Given the description of an element on the screen output the (x, y) to click on. 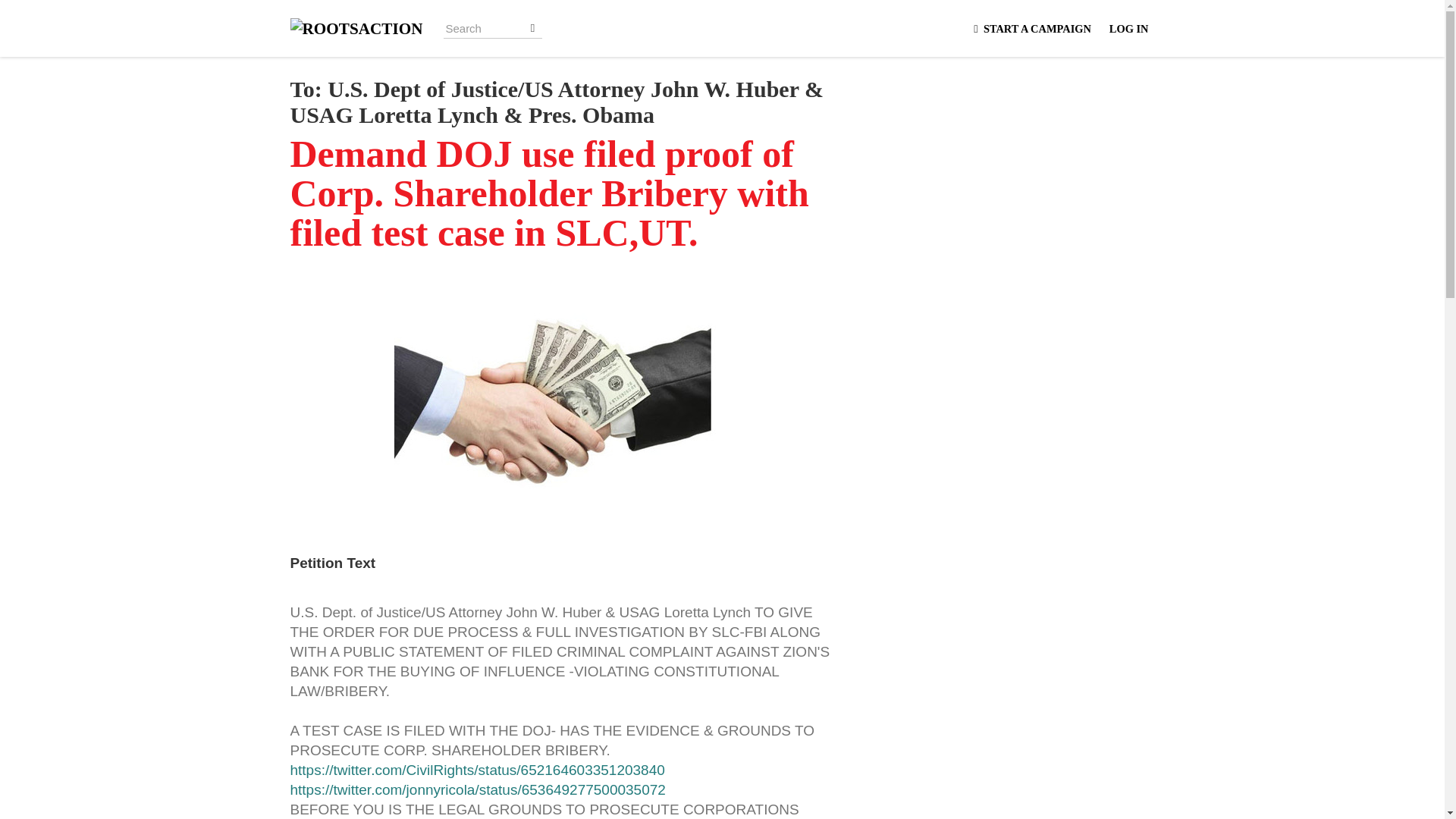
START A CAMPAIGN (1029, 27)
LOG IN (1128, 27)
